Given the description of an element on the screen output the (x, y) to click on. 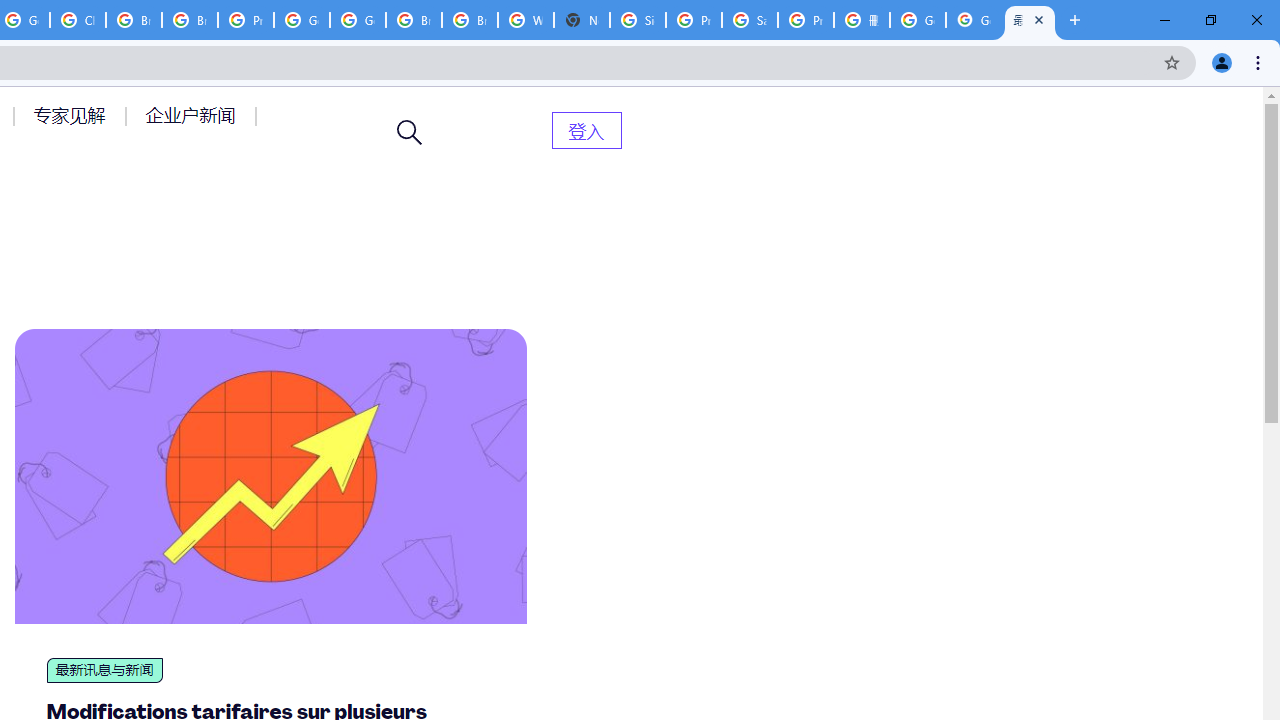
Browse Chrome as a guest - Computer - Google Chrome Help (413, 20)
Browse Chrome as a guest - Computer - Google Chrome Help (134, 20)
